Given the description of an element on the screen output the (x, y) to click on. 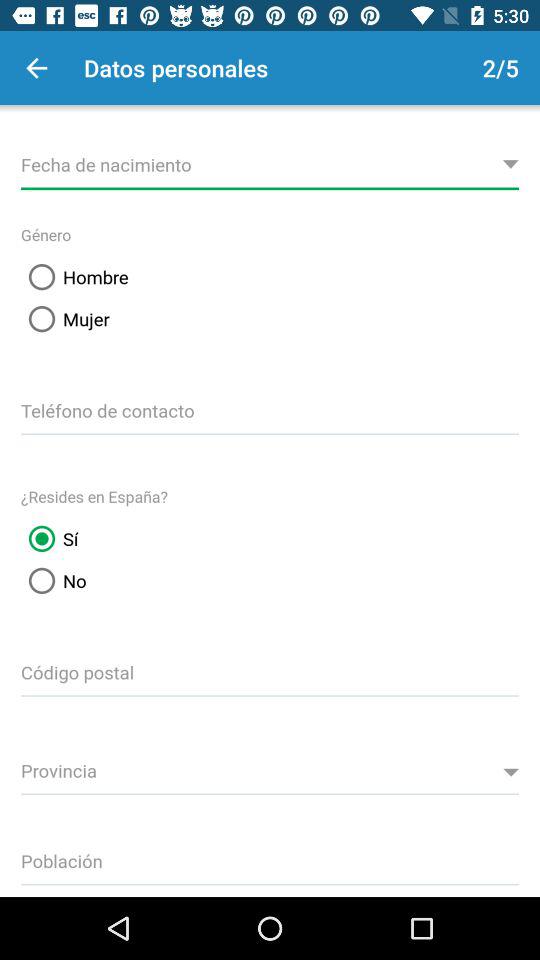
name (270, 162)
